Given the description of an element on the screen output the (x, y) to click on. 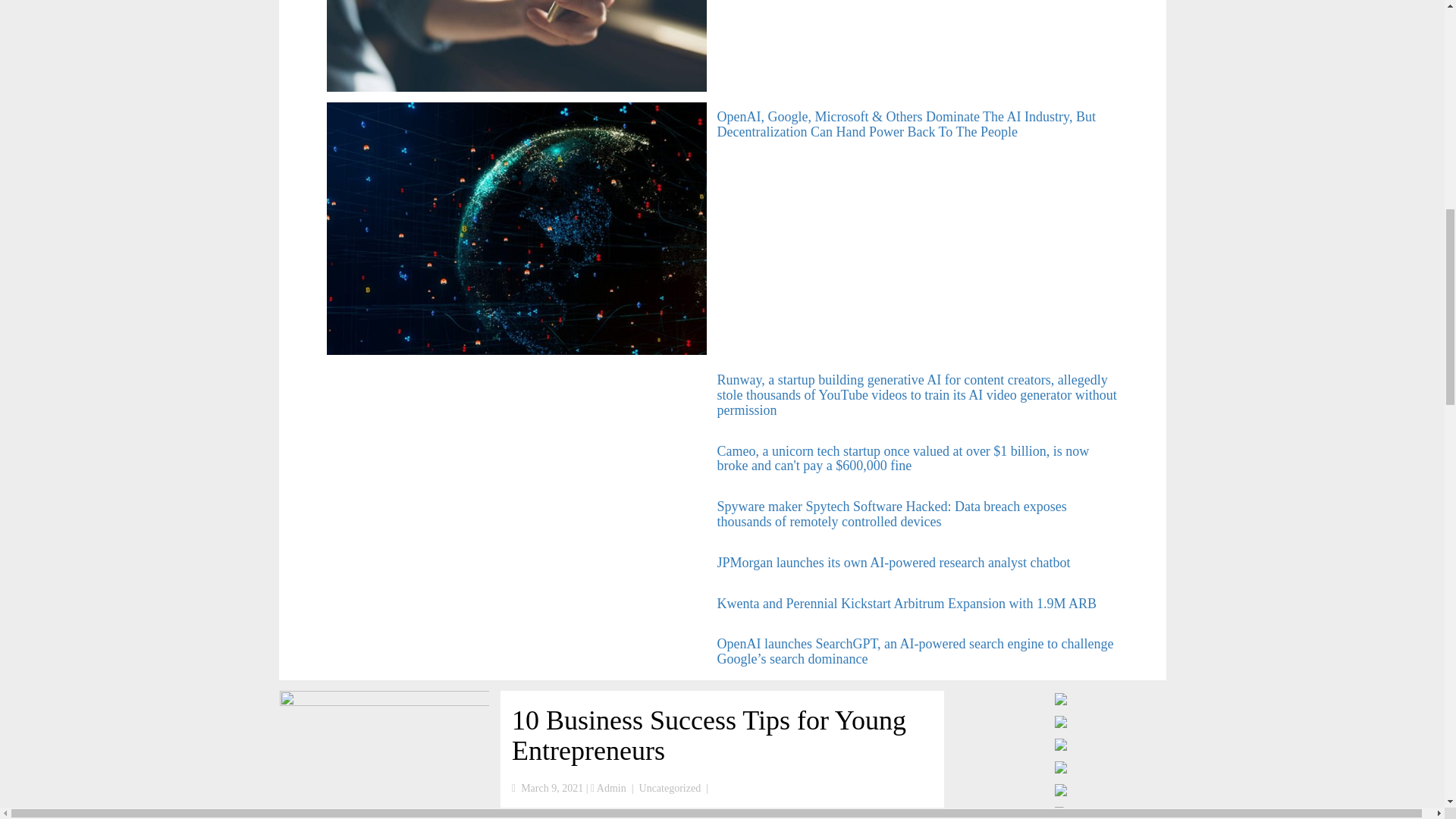
Posts by Admin (611, 787)
